Given the description of an element on the screen output the (x, y) to click on. 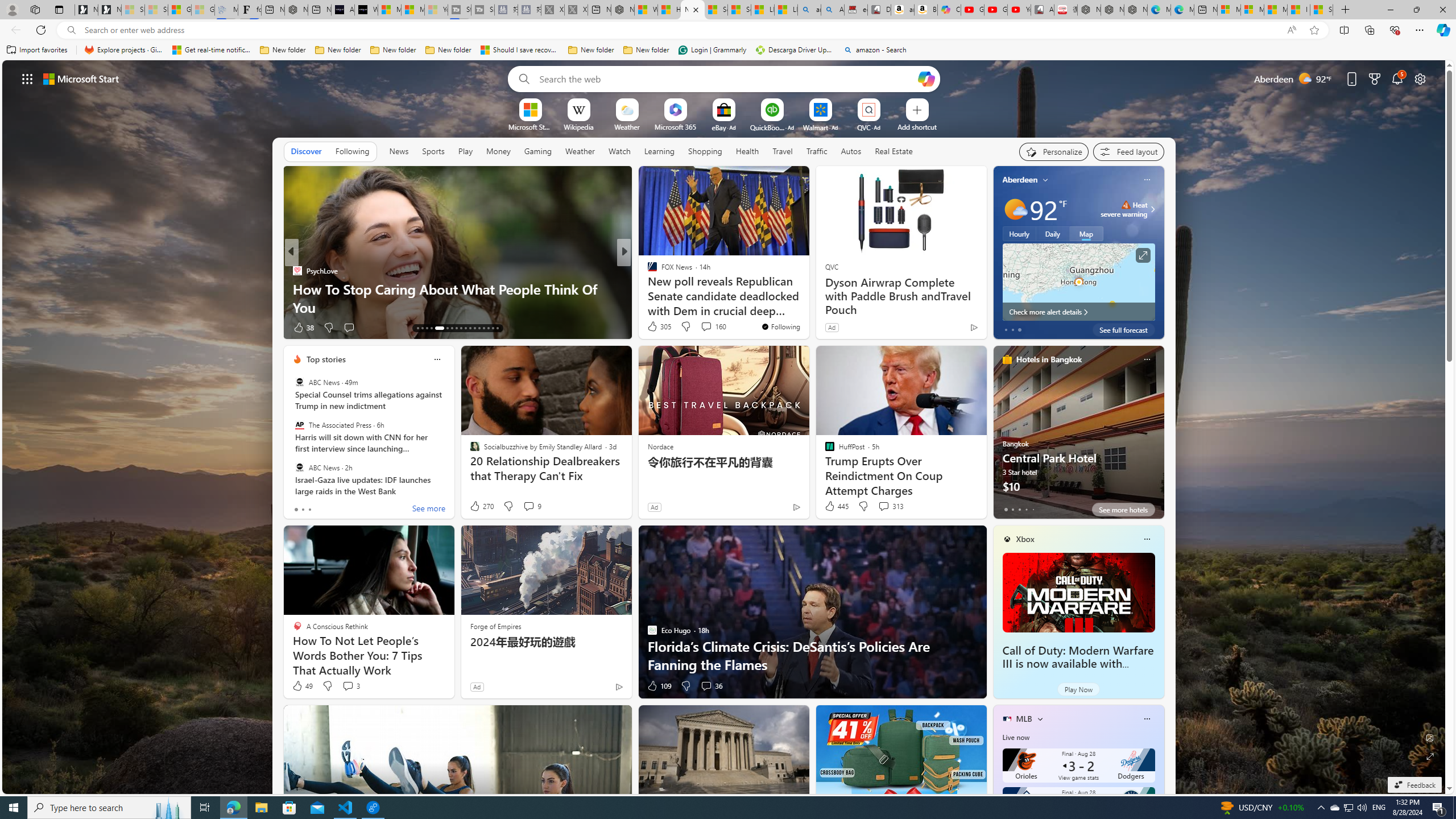
Larger map  (1077, 282)
Feed settings (1128, 151)
AutomationID: tab-40 (483, 328)
Forge of Empires (495, 625)
124 Like (654, 327)
View comments 5 Comment (702, 327)
